Given the description of an element on the screen output the (x, y) to click on. 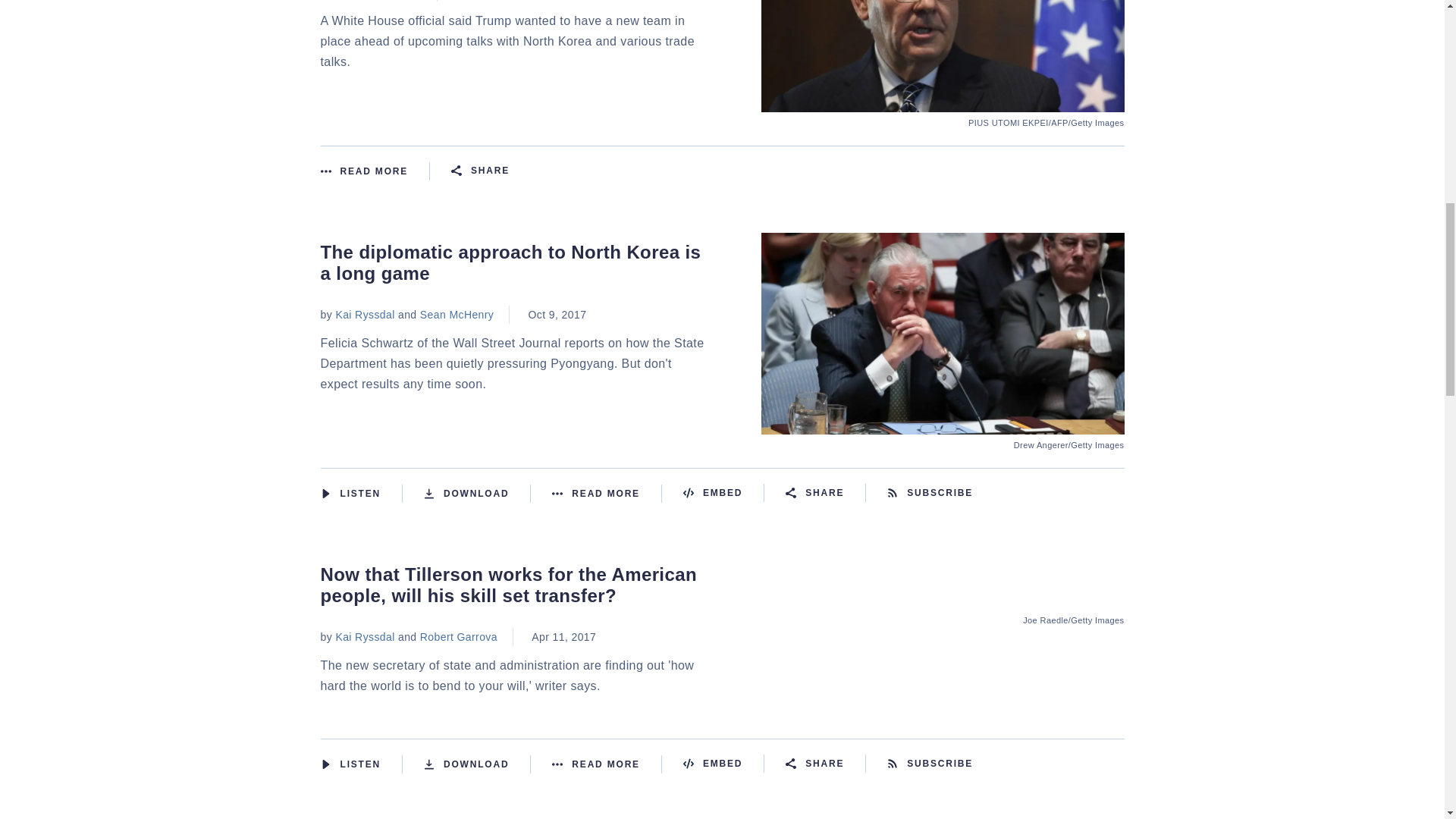
Listen Now (360, 493)
The diplomatic approach to North Korea is a long game (942, 424)
Download (477, 493)
LISTEN (325, 493)
Read More (606, 493)
Read More (374, 171)
